Given the description of an element on the screen output the (x, y) to click on. 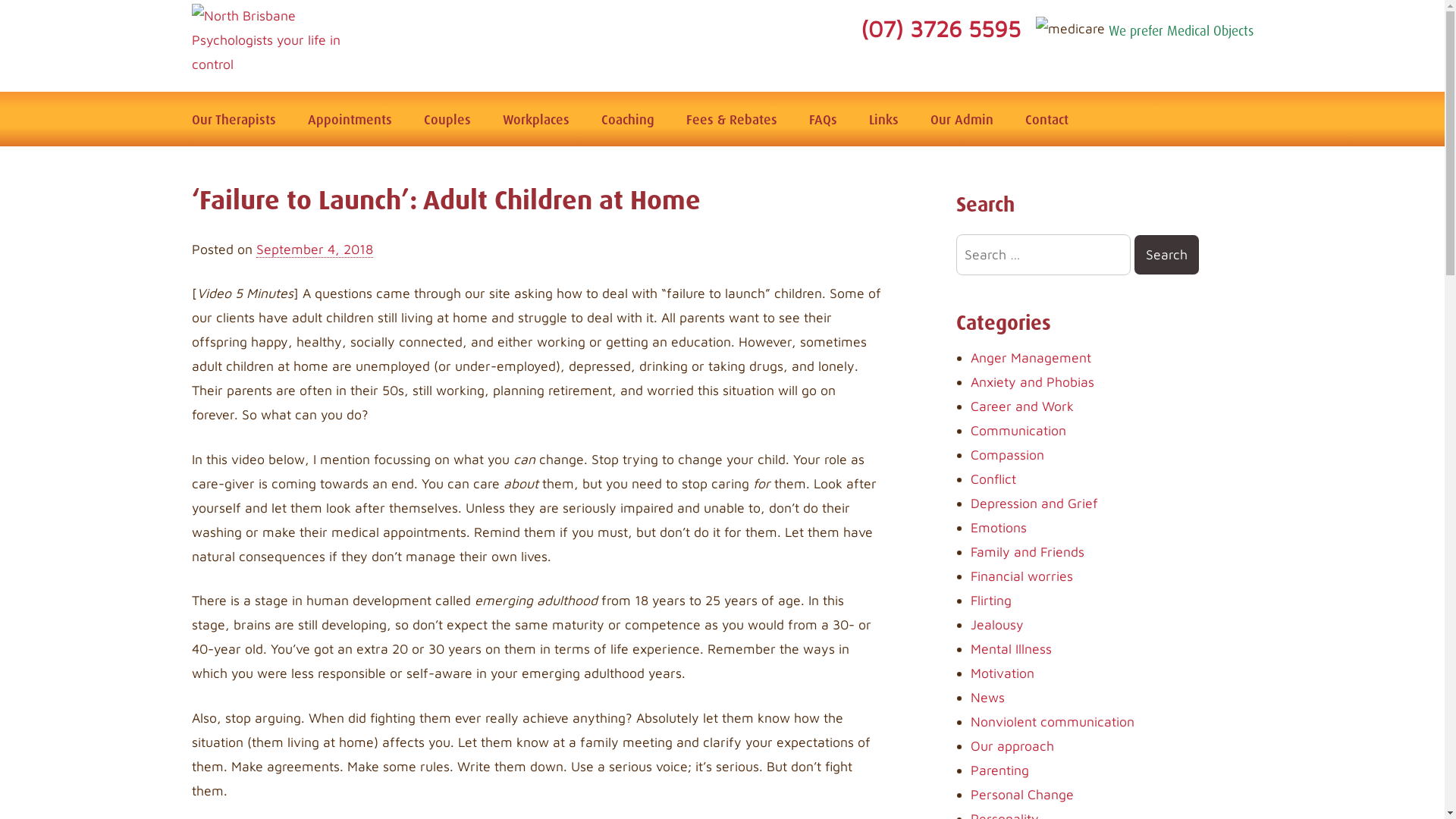
September 4, 2018 Element type: text (314, 249)
Mental Illness Element type: text (1010, 648)
Appointments Element type: text (349, 118)
Career and Work Element type: text (1021, 406)
Anxiety and Phobias Element type: text (1032, 381)
Motivation Element type: text (1002, 672)
Emotions Element type: text (998, 527)
News Element type: text (987, 697)
Parenting Element type: text (999, 770)
Depression and Grief Element type: text (1034, 503)
Workplaces Element type: text (535, 118)
Fees & Rebates Element type: text (730, 118)
Our Admin Element type: text (960, 118)
Anger Management Element type: text (1030, 357)
Flirting Element type: text (990, 600)
Nonviolent communication Element type: text (1052, 721)
Financial worries Element type: text (1021, 575)
Jealousy Element type: text (996, 624)
Couples Element type: text (446, 118)
FAQs Element type: text (822, 118)
Links Element type: text (883, 118)
Personal Change Element type: text (1021, 794)
Contact Element type: text (1046, 118)
Family and Friends Element type: text (1027, 551)
(07) 3726 5595 Element type: text (947, 28)
Coaching Element type: text (626, 118)
Compassion Element type: text (1007, 454)
Conflict Element type: text (993, 478)
Search Element type: text (1166, 254)
Our approach Element type: text (1012, 745)
Our Therapists Element type: text (233, 118)
Communication Element type: text (1018, 430)
